Given the description of an element on the screen output the (x, y) to click on. 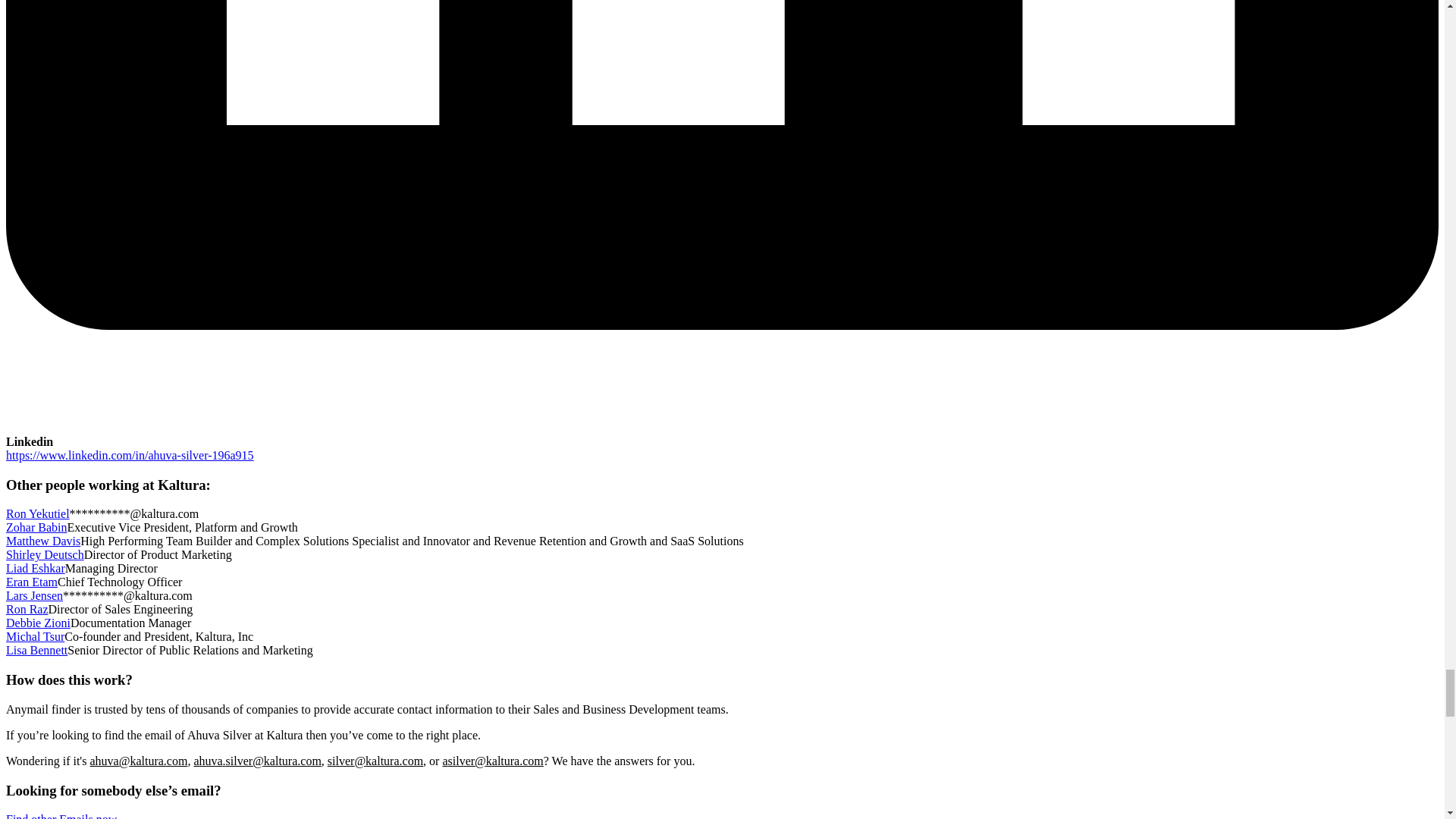
Lisa Bennett (35, 649)
Ron Raz (26, 608)
Shirley Deutsch (44, 554)
Eran Etam (31, 581)
Find other Emails now (60, 816)
Liad Eshkar (35, 567)
Ron Yekutiel (37, 513)
Michal Tsur (34, 635)
Matthew Davis (42, 540)
Zohar Babin (35, 526)
Lars Jensen (33, 594)
Debbie Zioni (37, 622)
